Given the description of an element on the screen output the (x, y) to click on. 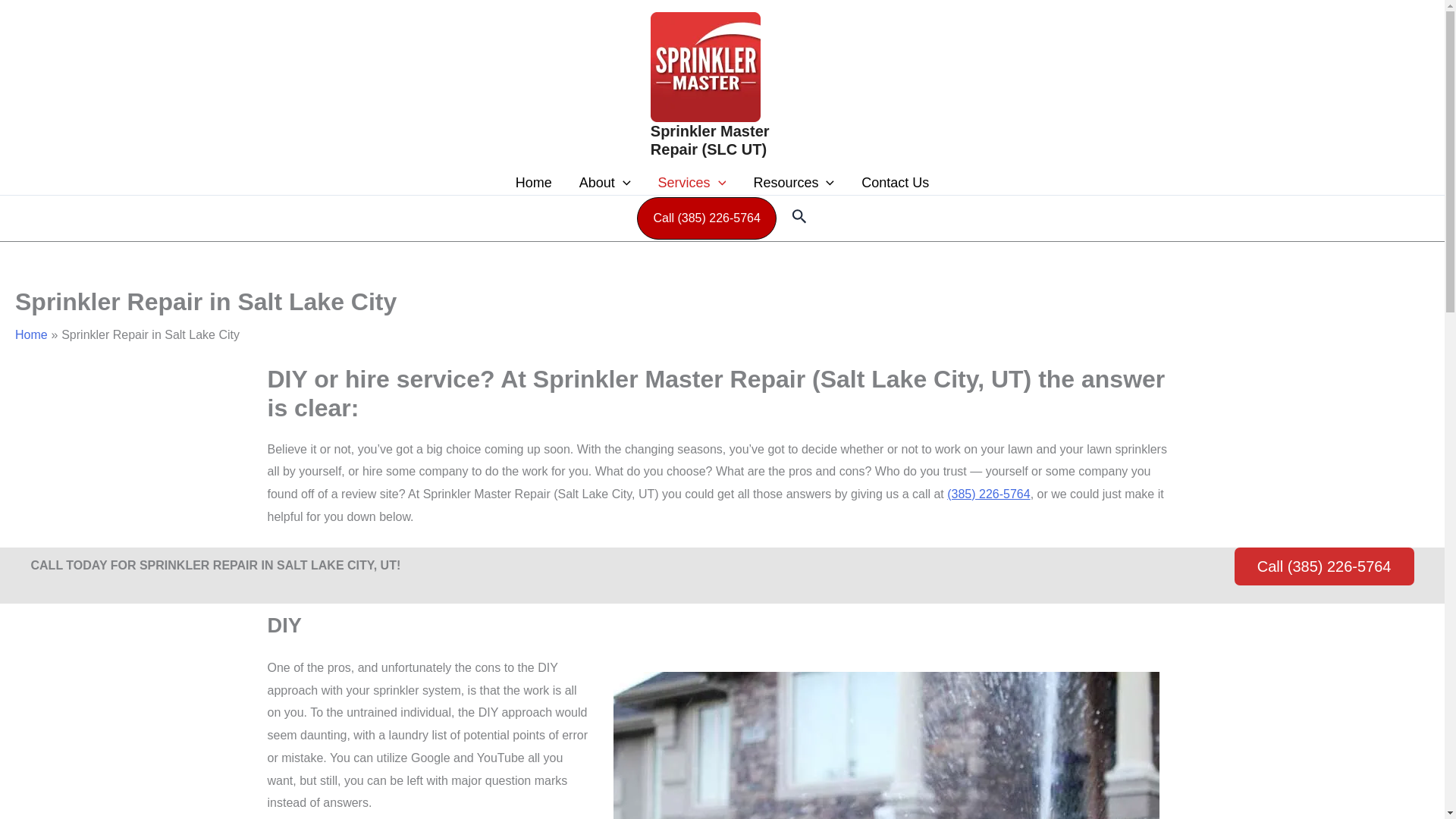
About (605, 182)
Home (534, 182)
Services (692, 182)
Resources (793, 182)
